Given the description of an element on the screen output the (x, y) to click on. 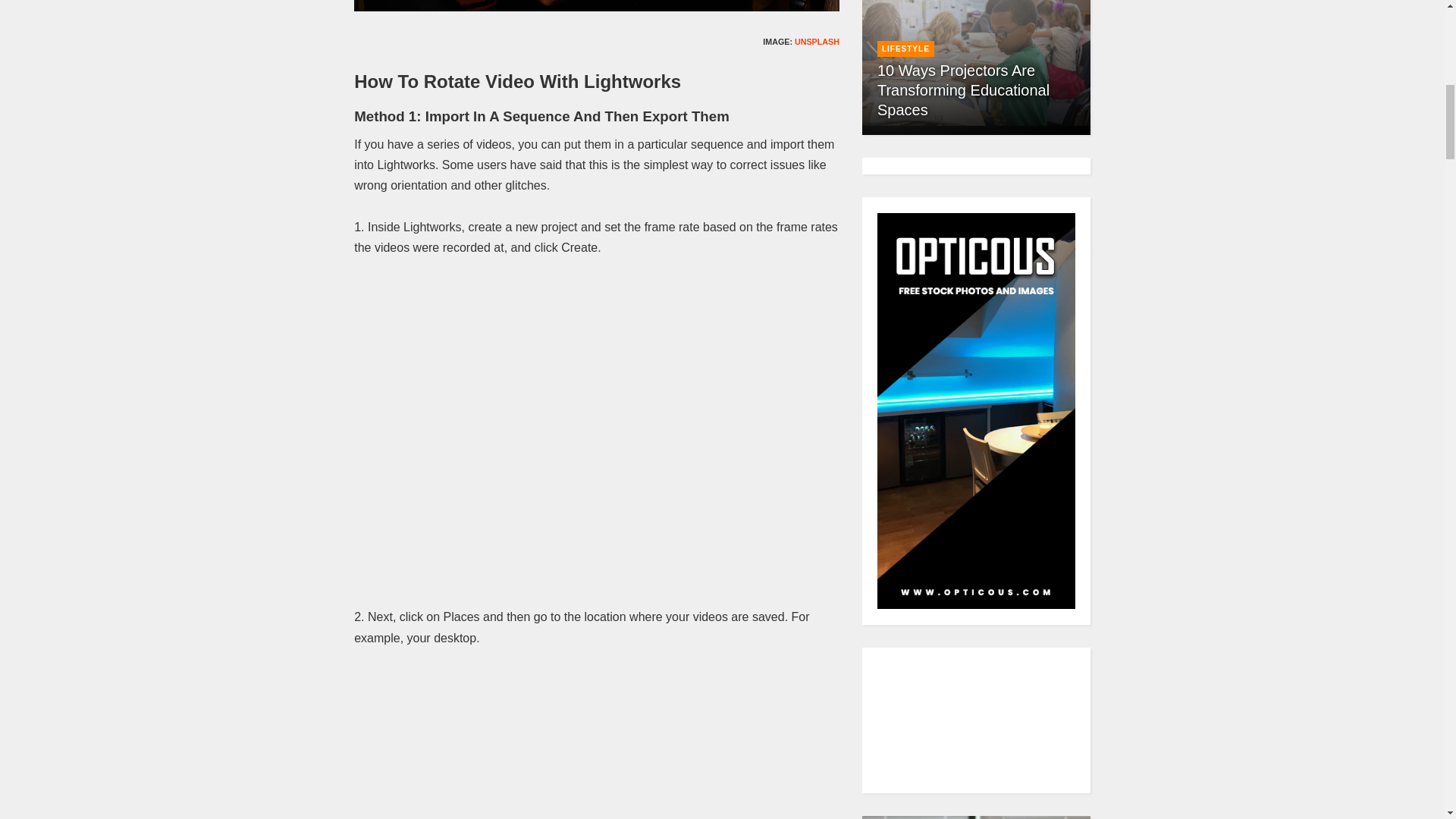
10 Ways Projectors Are Transforming Educational Spaces (963, 89)
10 Ways Projectors Are Transforming Educational Spaces (975, 62)
